Given the description of an element on the screen output the (x, y) to click on. 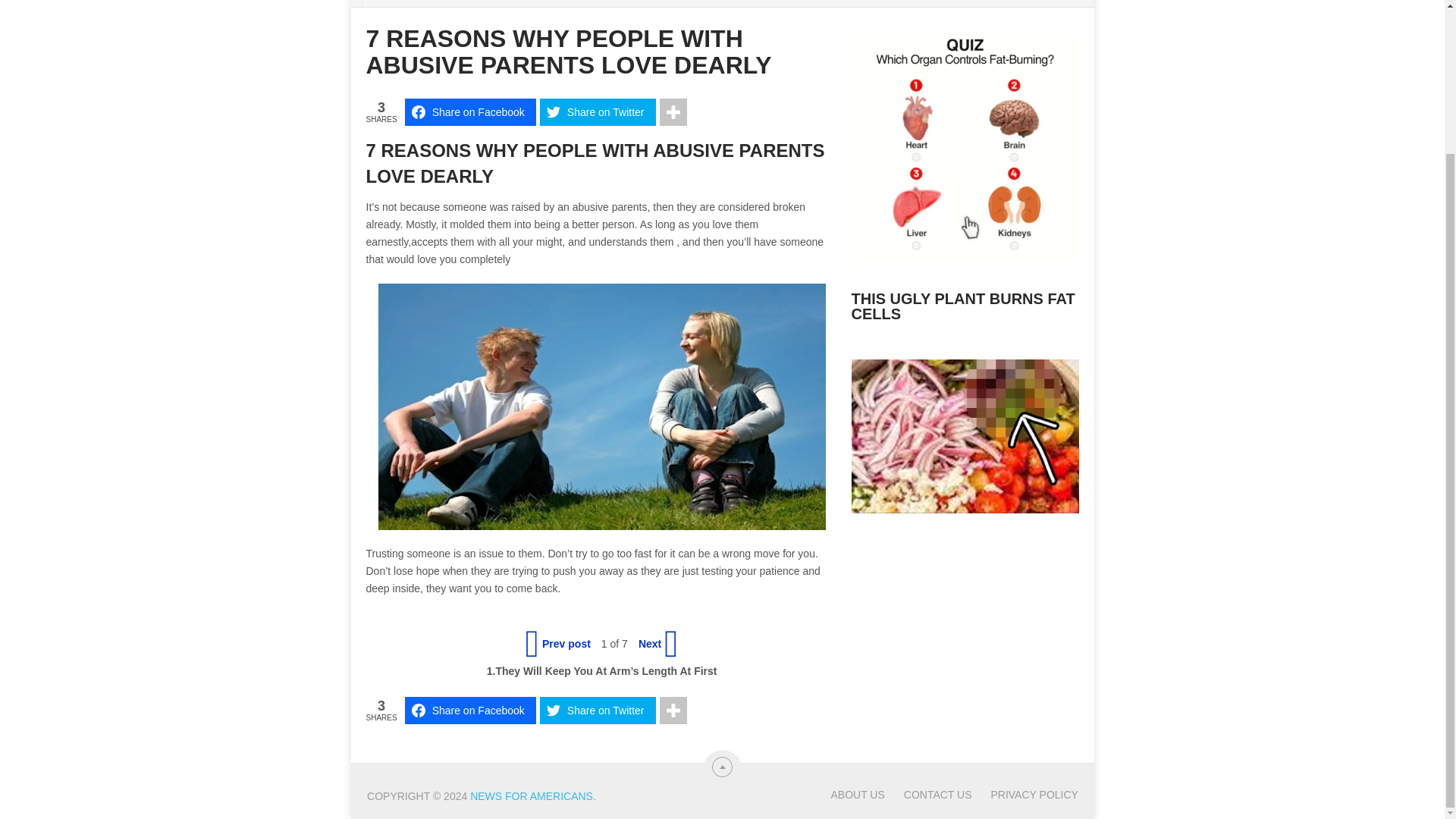
Prev post (559, 643)
NEWS FOR AMERICANS (531, 796)
CONTACT US (928, 794)
PURA (964, 505)
RELATIONSHIPS (433, 3)
livpure (964, 253)
Share on Share on Facebook (469, 709)
Share on Share on Twitter (598, 709)
Next (656, 643)
Share on Facebook (469, 112)
Share on Twitter (598, 709)
Share on Facebook (469, 709)
ABOUT US (856, 794)
Share on Share on Facebook (469, 112)
